Given the description of an element on the screen output the (x, y) to click on. 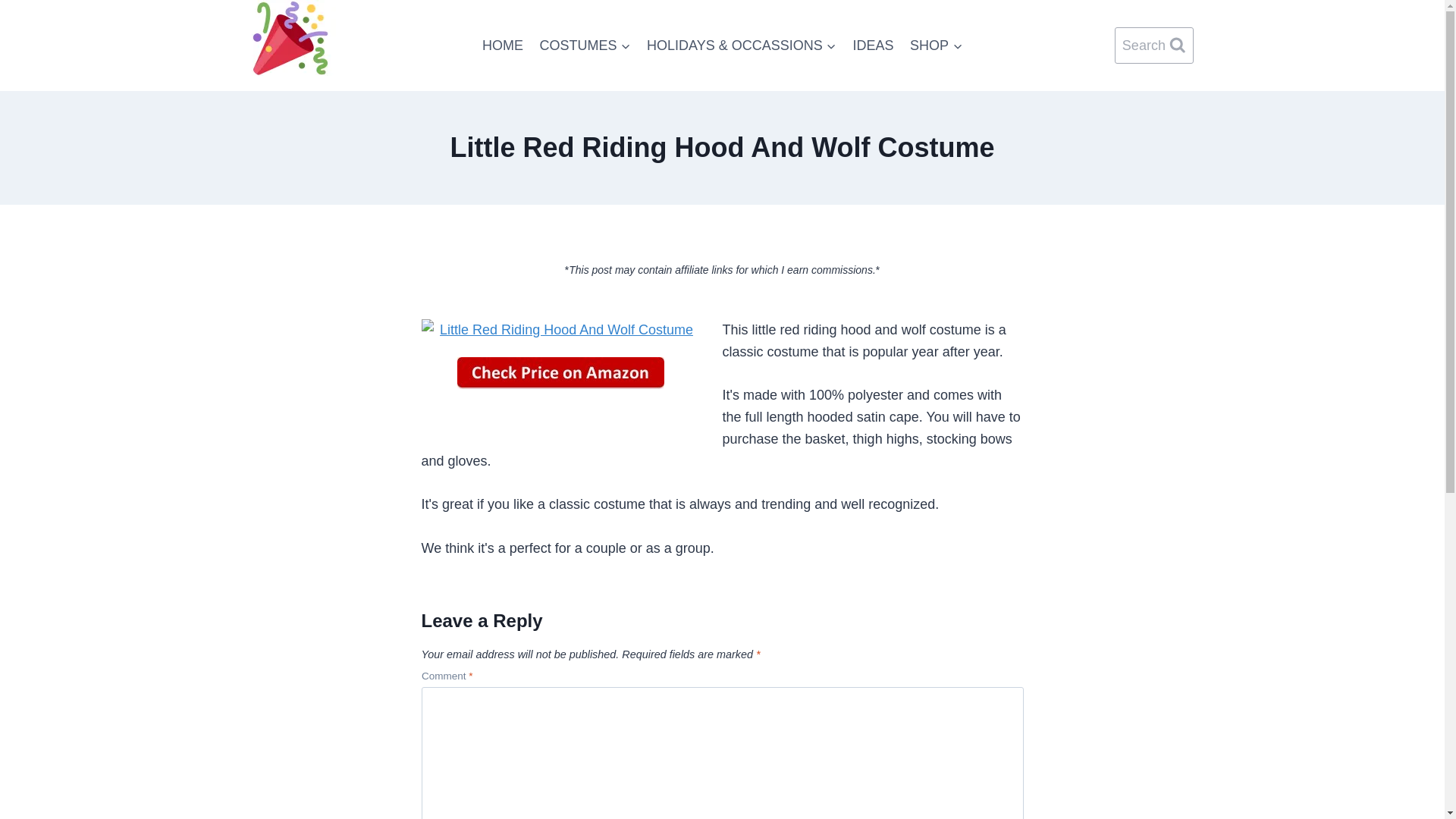
HOME (502, 45)
SHOP (936, 45)
IDEAS (873, 45)
Search (1154, 45)
COSTUMES (585, 45)
